Given the description of an element on the screen output the (x, y) to click on. 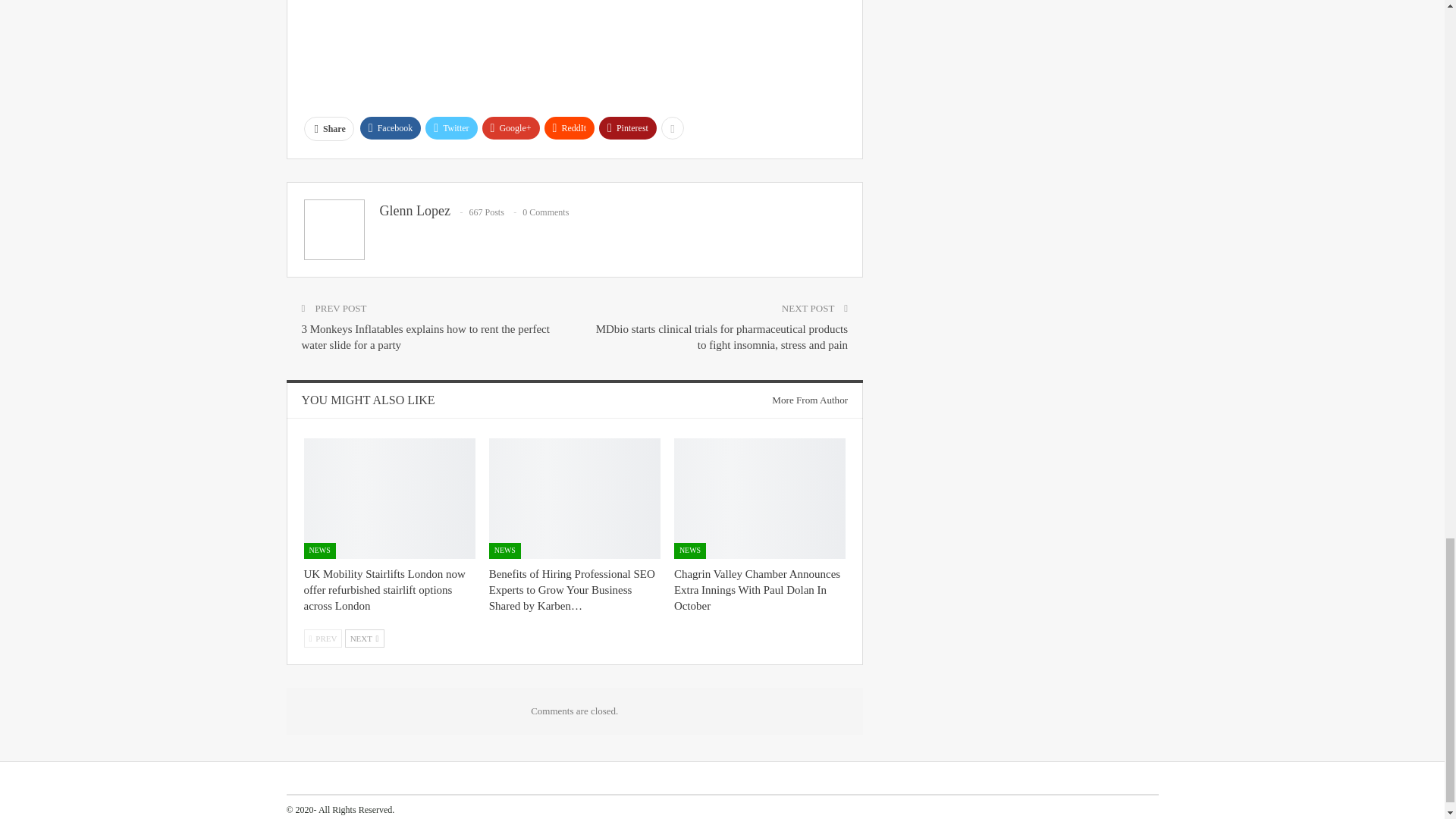
Next (364, 638)
Facebook (390, 128)
Previous (322, 638)
Twitter (451, 128)
